Given the description of an element on the screen output the (x, y) to click on. 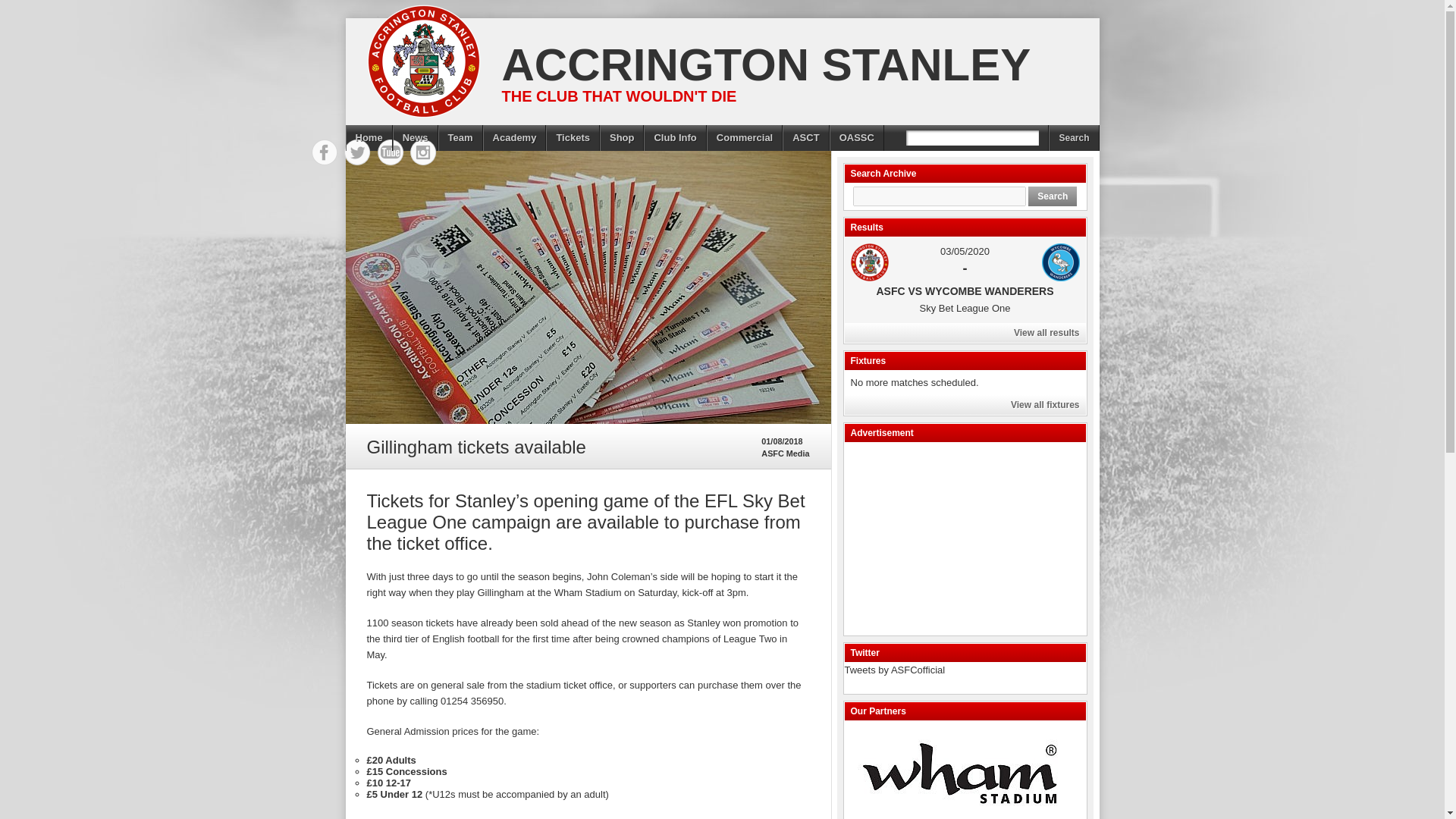
ASFC (869, 262)
News (415, 137)
Advertisement (957, 537)
Tickets (572, 137)
Shop (621, 137)
THE CLUB THAT WOULDN'T DIE (612, 95)
Commercial (744, 137)
Gillingham tickets available (588, 287)
ACCRINGTON STANLEY (759, 64)
Posts by ASFC Media (785, 452)
